Given the description of an element on the screen output the (x, y) to click on. 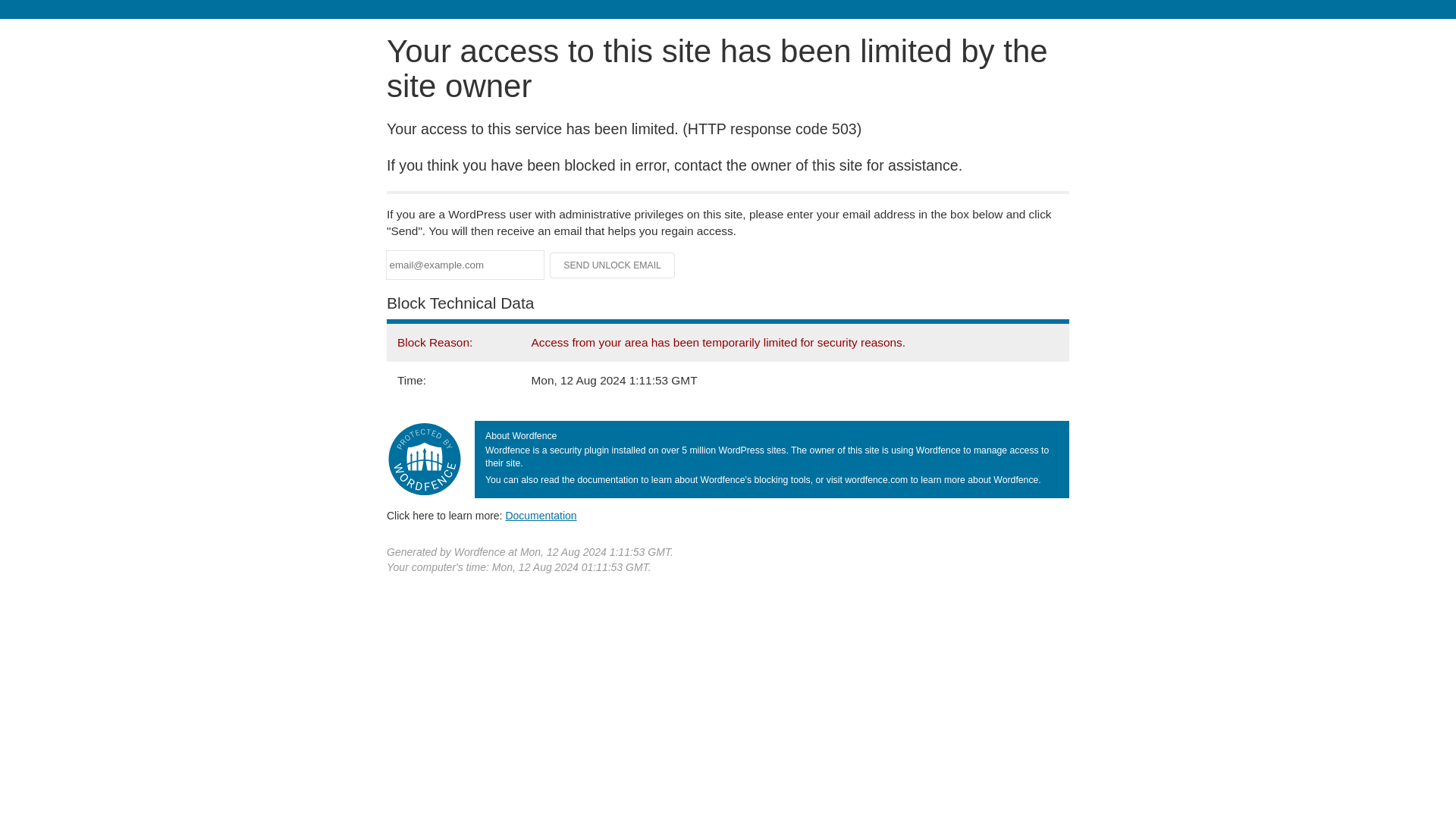
Send Unlock Email (612, 265)
Send Unlock Email (612, 265)
Documentation (540, 515)
